Given the description of an element on the screen output the (x, y) to click on. 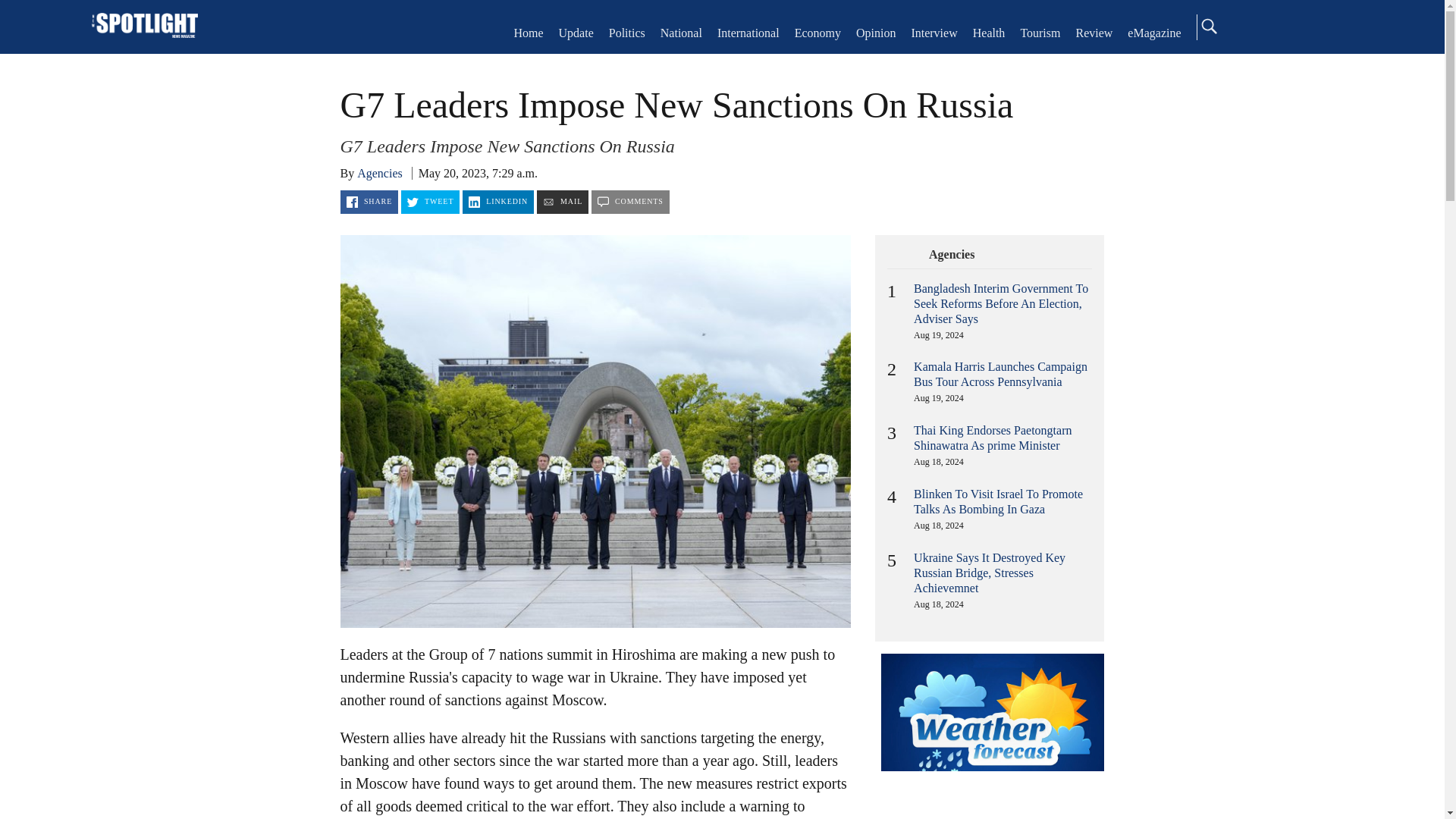
MAIL (563, 201)
SHARE (368, 201)
Search (1208, 26)
Comments (630, 201)
Home (528, 32)
Kamala Harris Launches Campaign Bus Tour Across Pennsylvania (1000, 374)
International (747, 32)
Opinion (875, 32)
Interview (933, 32)
Economy (817, 32)
